Given the description of an element on the screen output the (x, y) to click on. 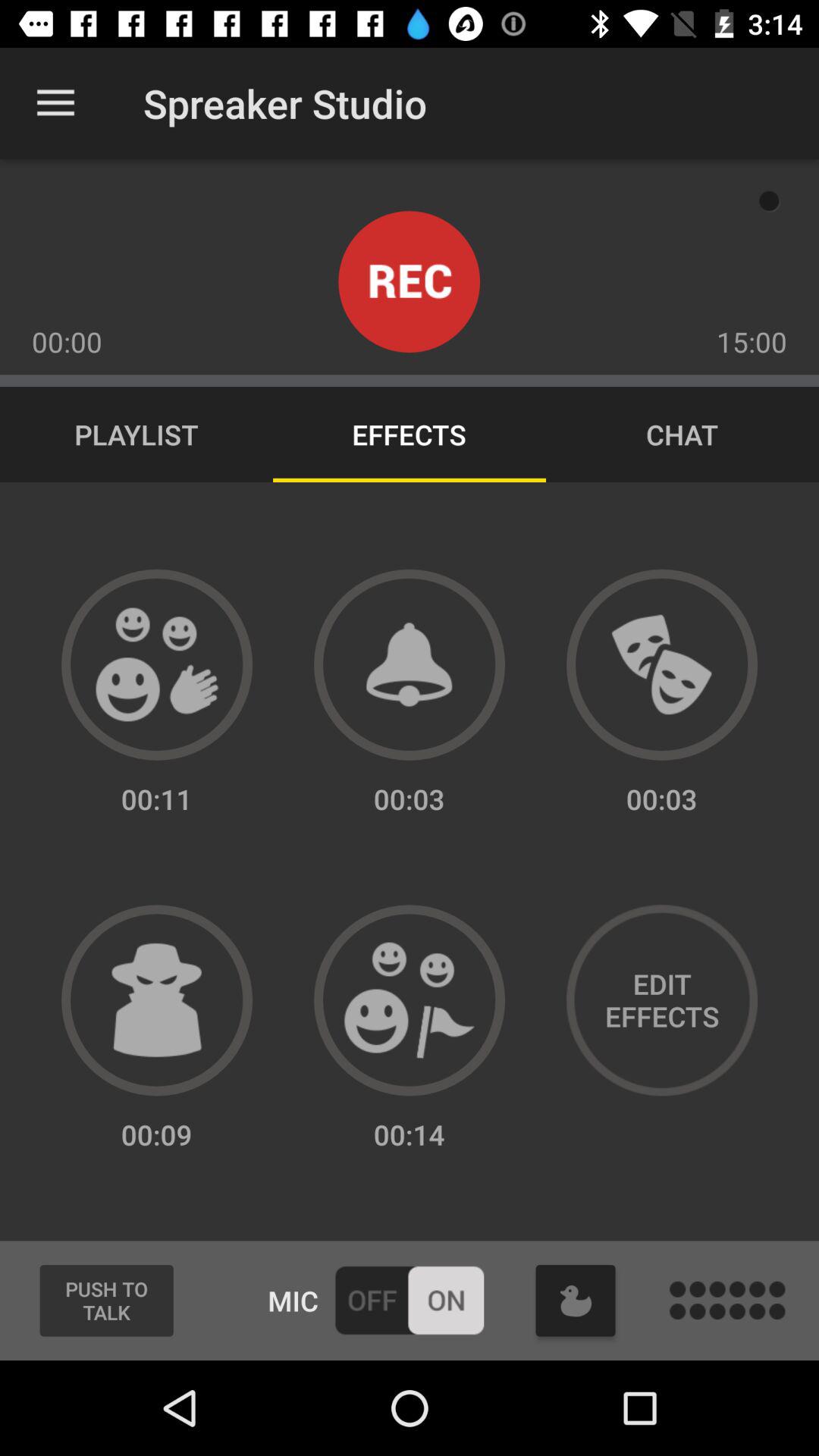
off on (409, 1300)
